Given the description of an element on the screen output the (x, y) to click on. 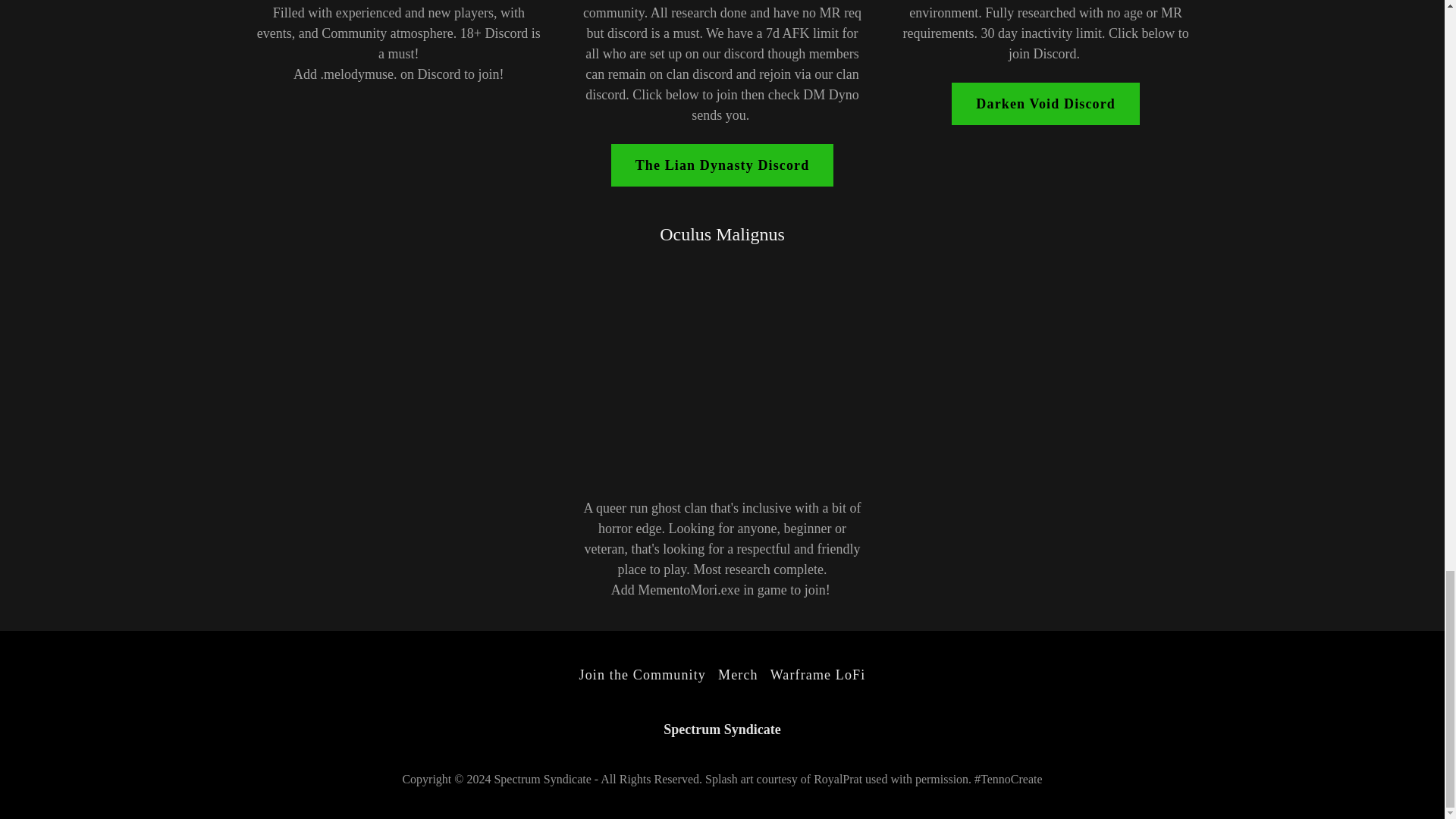
Merch (737, 674)
Warframe LoFi (818, 674)
Darken Void Discord (1046, 103)
Join the Community (642, 674)
The Lian Dynasty Discord (722, 165)
